Given the description of an element on the screen output the (x, y) to click on. 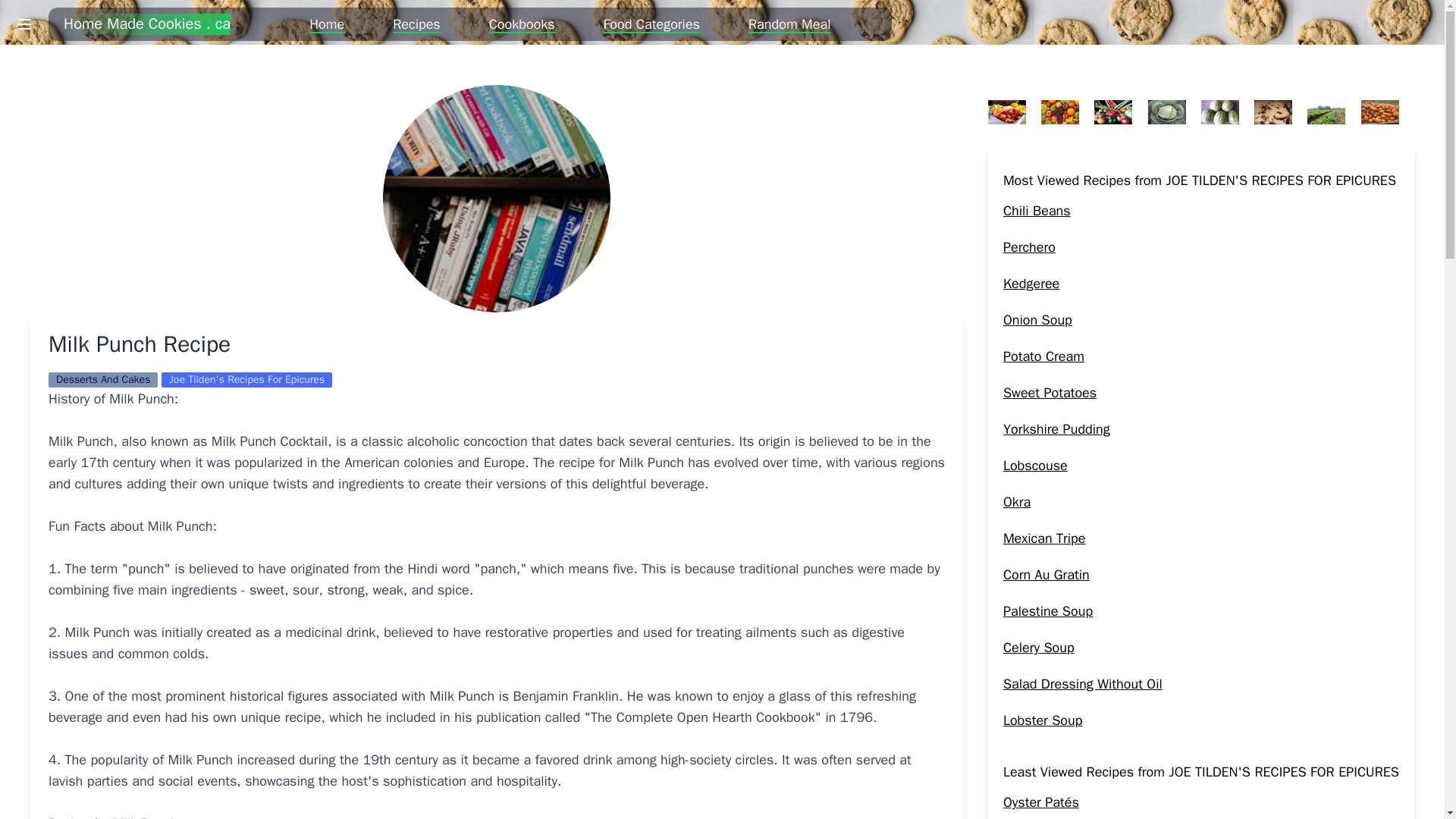
Joe Tilden's Recipes For Epicures (246, 379)
Potato Cream (1043, 356)
Food Categories (652, 24)
Random Meal (789, 24)
Onion Soup (1037, 320)
Recipes (417, 24)
Desserts And Cakes (102, 379)
Perchero (1029, 247)
Chili Beans (1036, 210)
Cookbooks (521, 24)
